Given the description of an element on the screen output the (x, y) to click on. 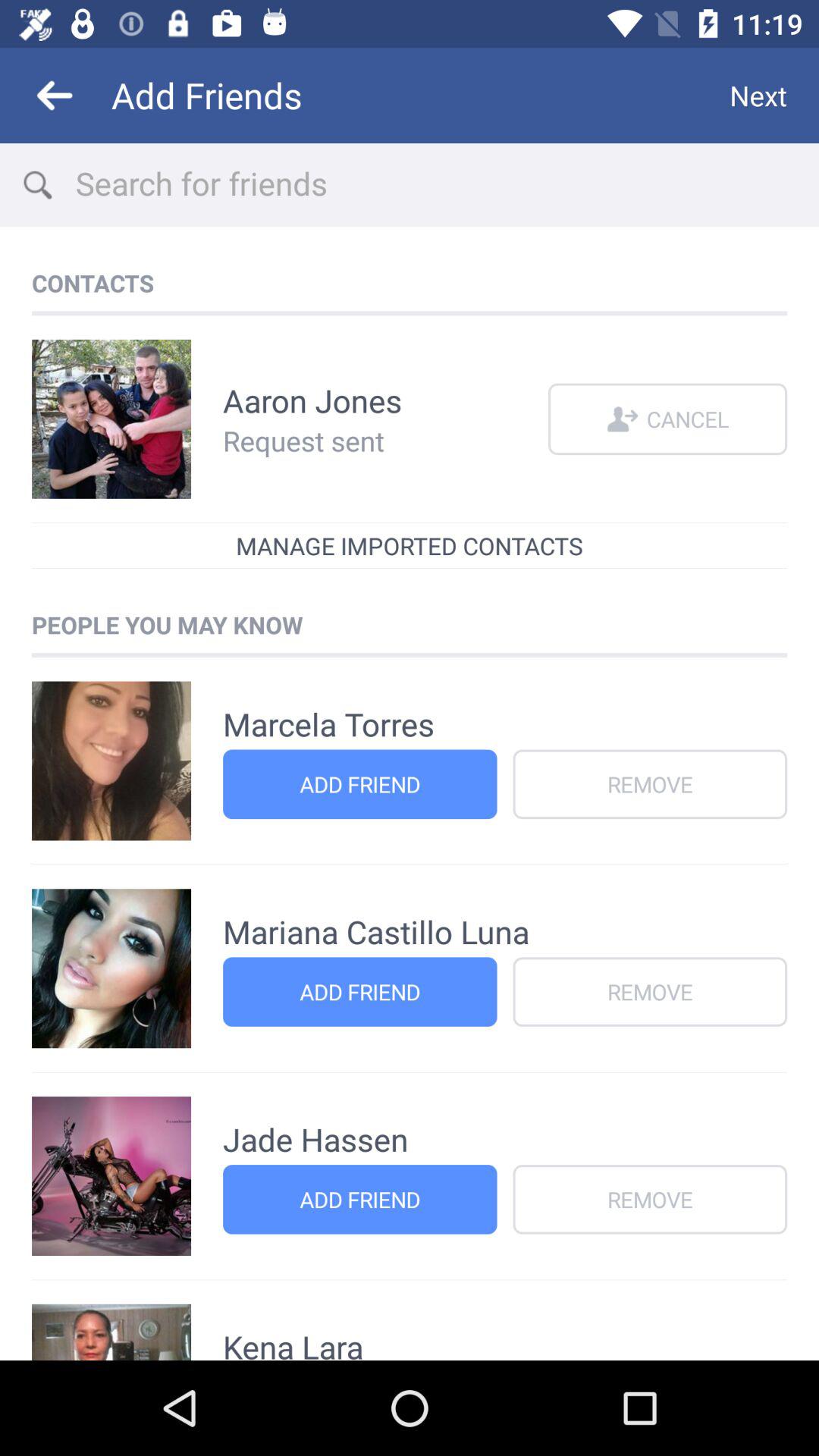
search (447, 184)
